Given the description of an element on the screen output the (x, y) to click on. 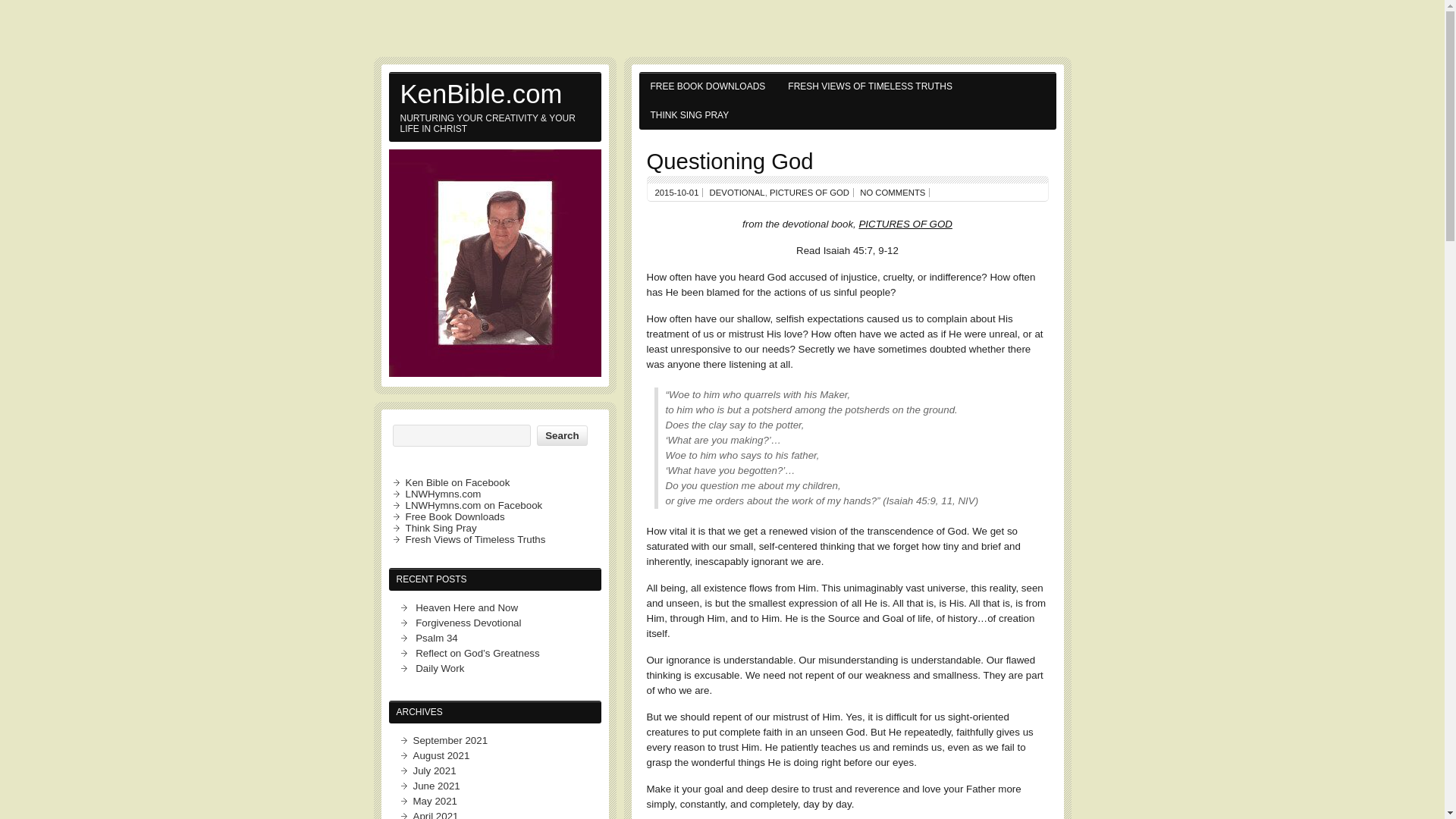
Heaven Here and Now (466, 607)
KenBible.com (493, 92)
PICTURES OF GOD (809, 192)
Daily Work (439, 668)
June 2021 (436, 785)
July 2021 (433, 770)
PICTURES OF GOD (905, 224)
Search (561, 435)
August 2021 (440, 755)
FREE BOOK DOWNLOADS (707, 86)
